Given the description of an element on the screen output the (x, y) to click on. 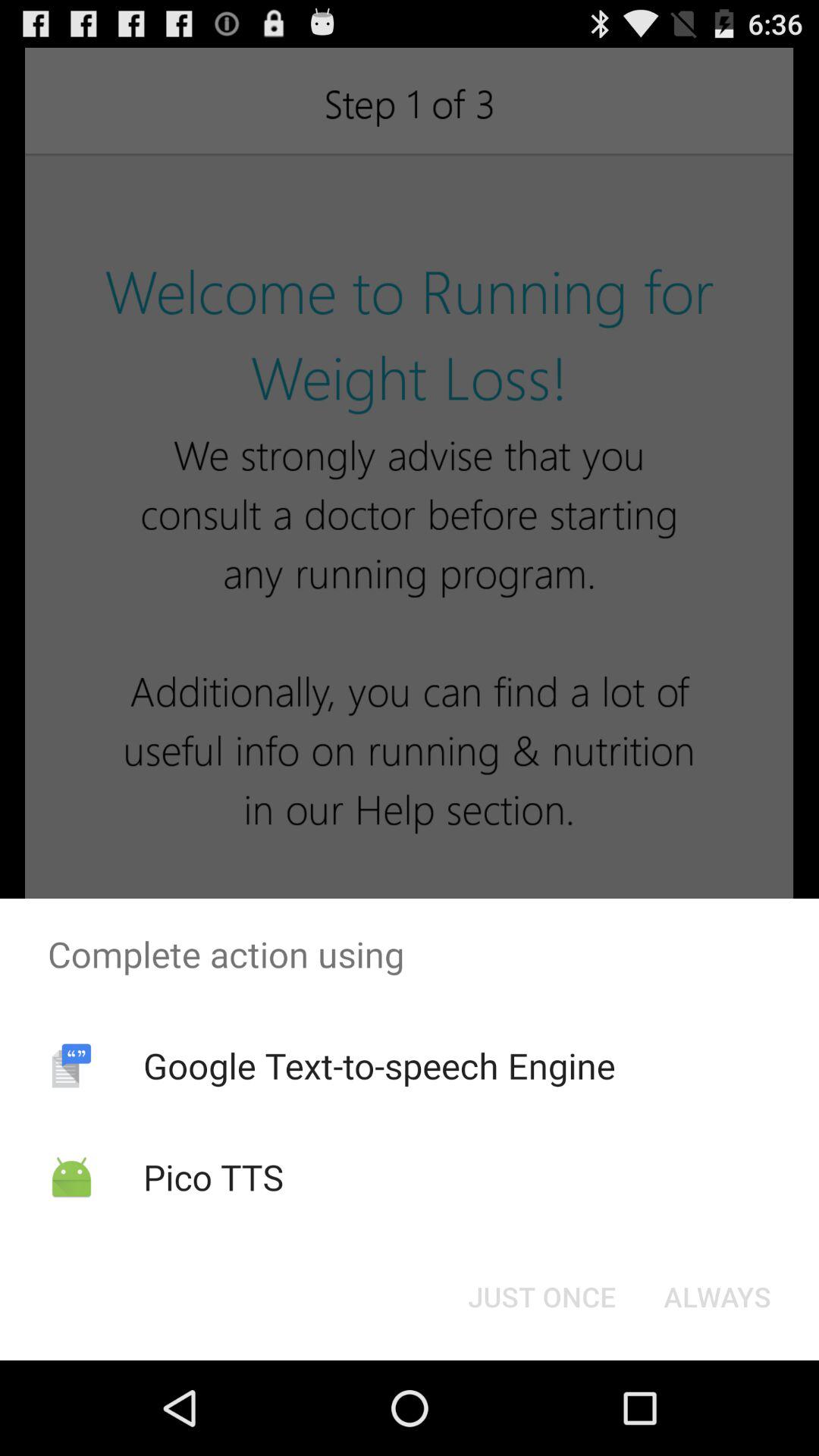
turn on button at the bottom right corner (717, 1296)
